Given the description of an element on the screen output the (x, y) to click on. 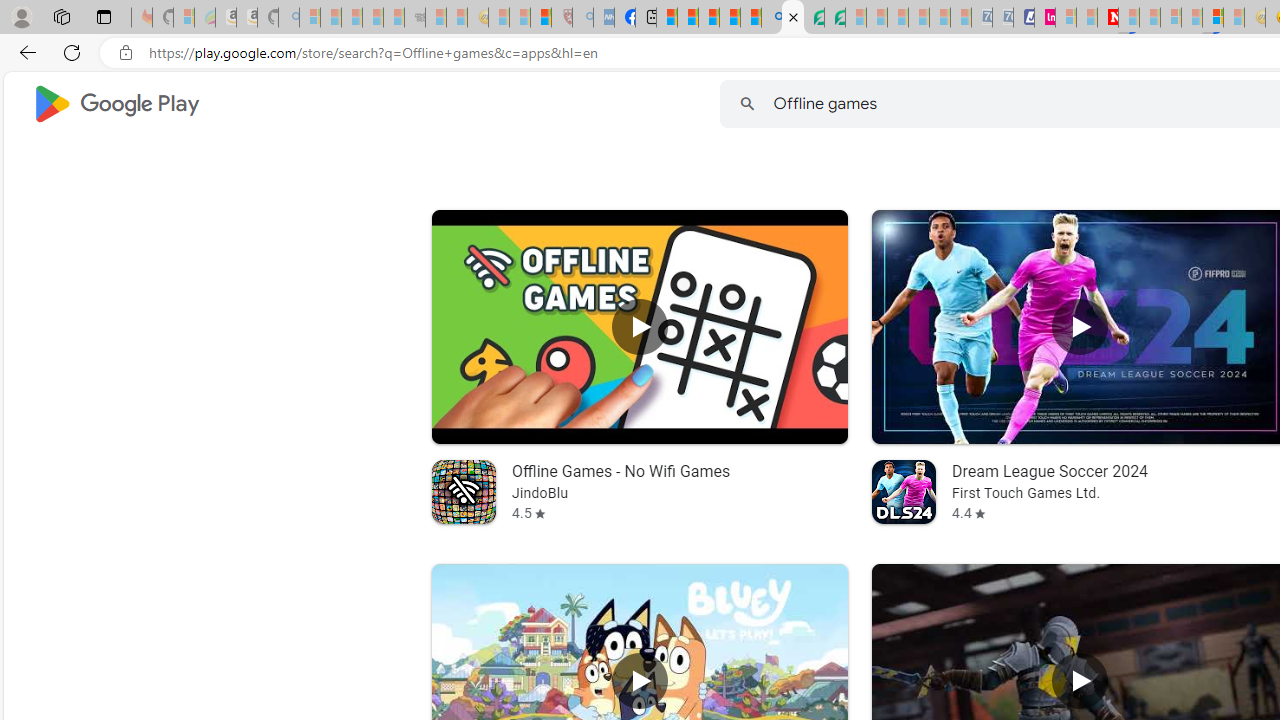
Pets - MSN (729, 17)
Play Dream League Soccer 2024 (1079, 326)
The Weather Channel - MSN - Sleeping (351, 17)
Robert H. Shmerling, MD - Harvard Health - Sleeping (561, 17)
Recipes - MSN - Sleeping (499, 17)
Microsoft-Report a Concern to Bing - Sleeping (184, 17)
Personal Profile (21, 16)
Trusted Community Engagement and Contributions | Guidelines (1128, 17)
Cheap Hotels - Save70.com - Sleeping (1002, 17)
Play Offline Games - No Wifi Games (638, 326)
